Given the description of an element on the screen output the (x, y) to click on. 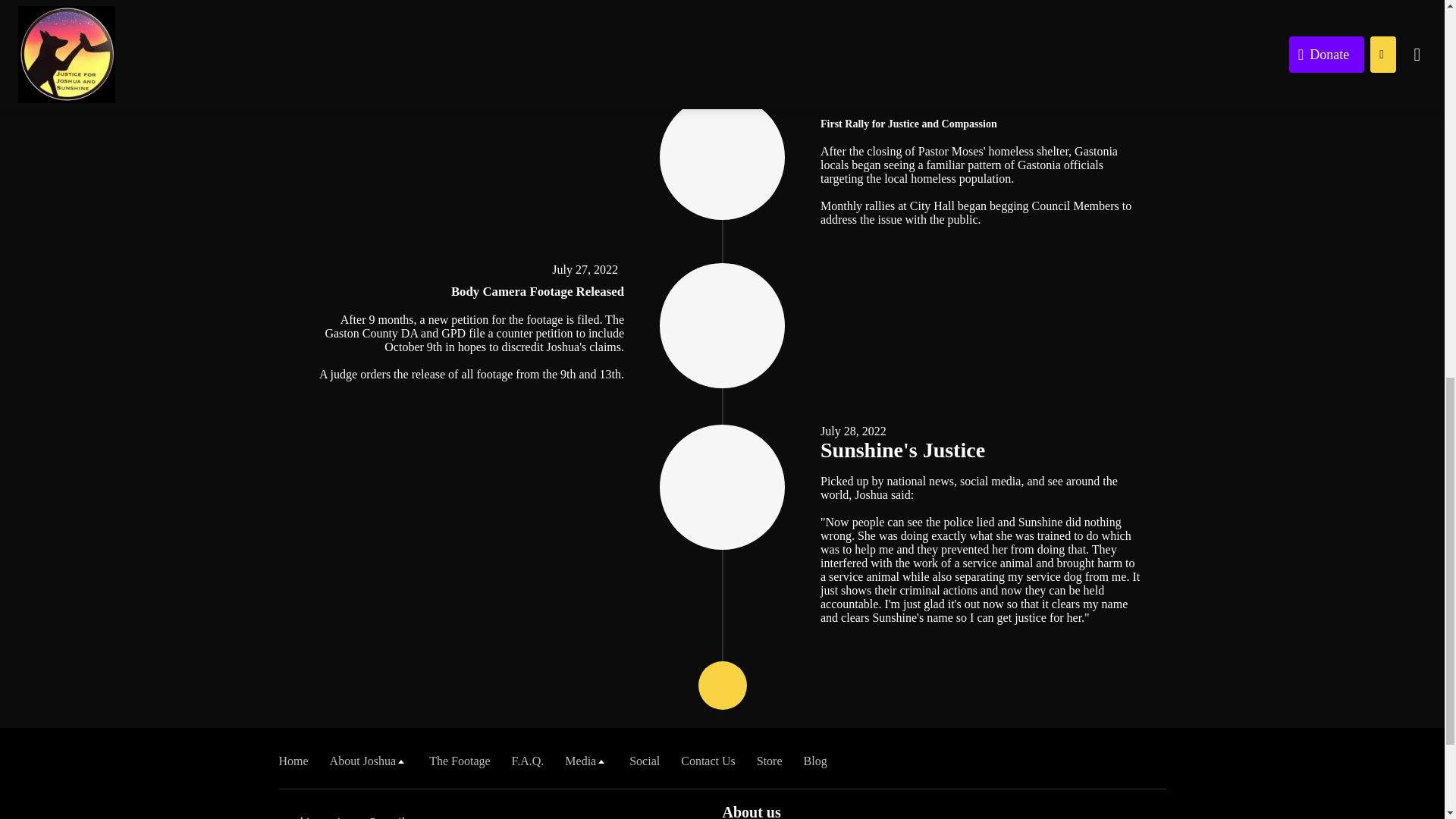
Store (770, 760)
Social (643, 760)
Contact Us (708, 760)
The Footage (459, 760)
Home (293, 760)
About Joshua (369, 760)
Media (586, 760)
Blog (815, 760)
F.A.Q. (528, 760)
